Given the description of an element on the screen output the (x, y) to click on. 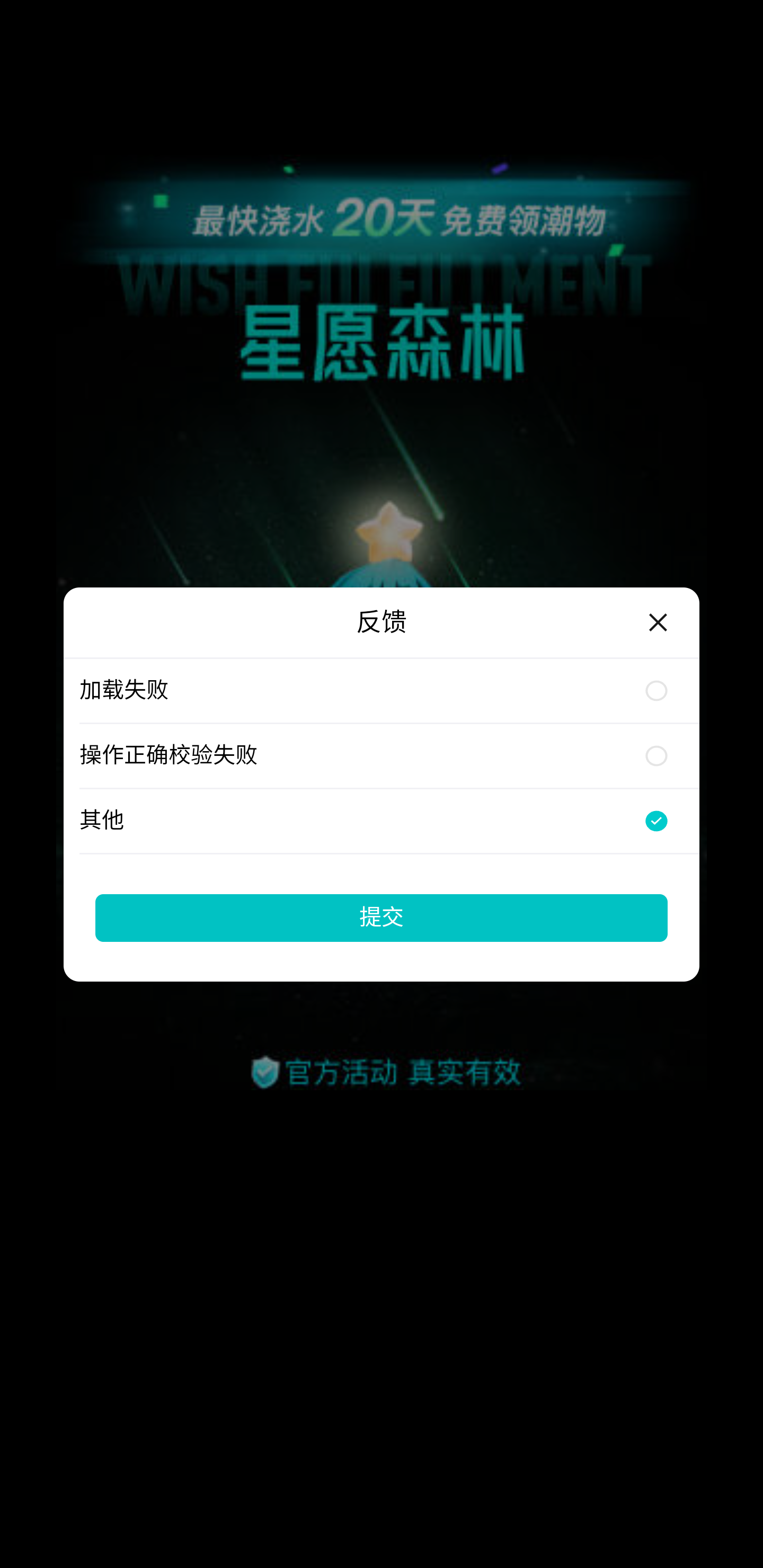
提交 (381, 917)
